Given the description of an element on the screen output the (x, y) to click on. 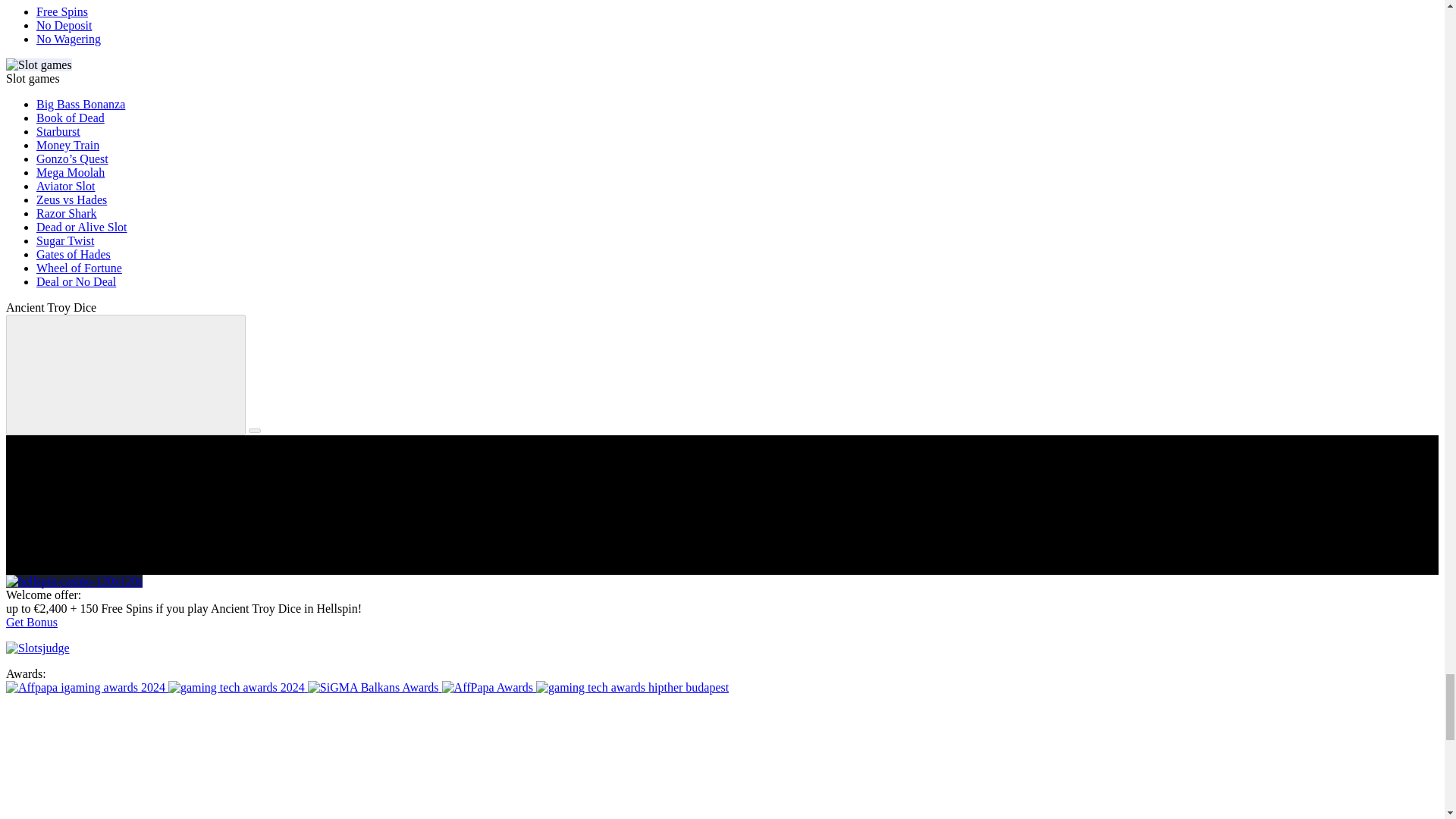
fullscreen (125, 374)
